Given the description of an element on the screen output the (x, y) to click on. 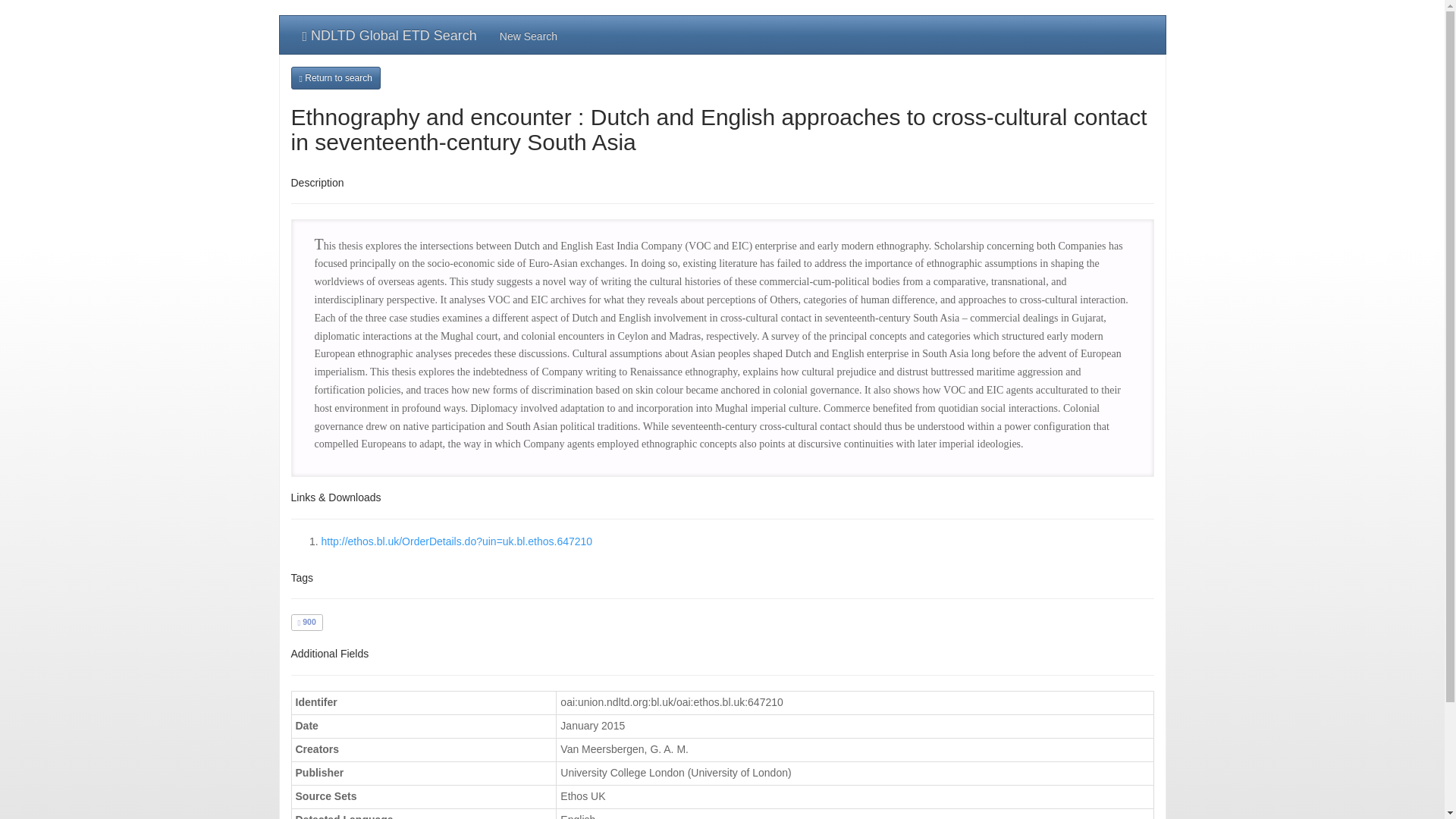
Return to search (335, 77)
900 (306, 621)
New Search (528, 34)
NDLTD Global ETD Search (389, 34)
